Given the description of an element on the screen output the (x, y) to click on. 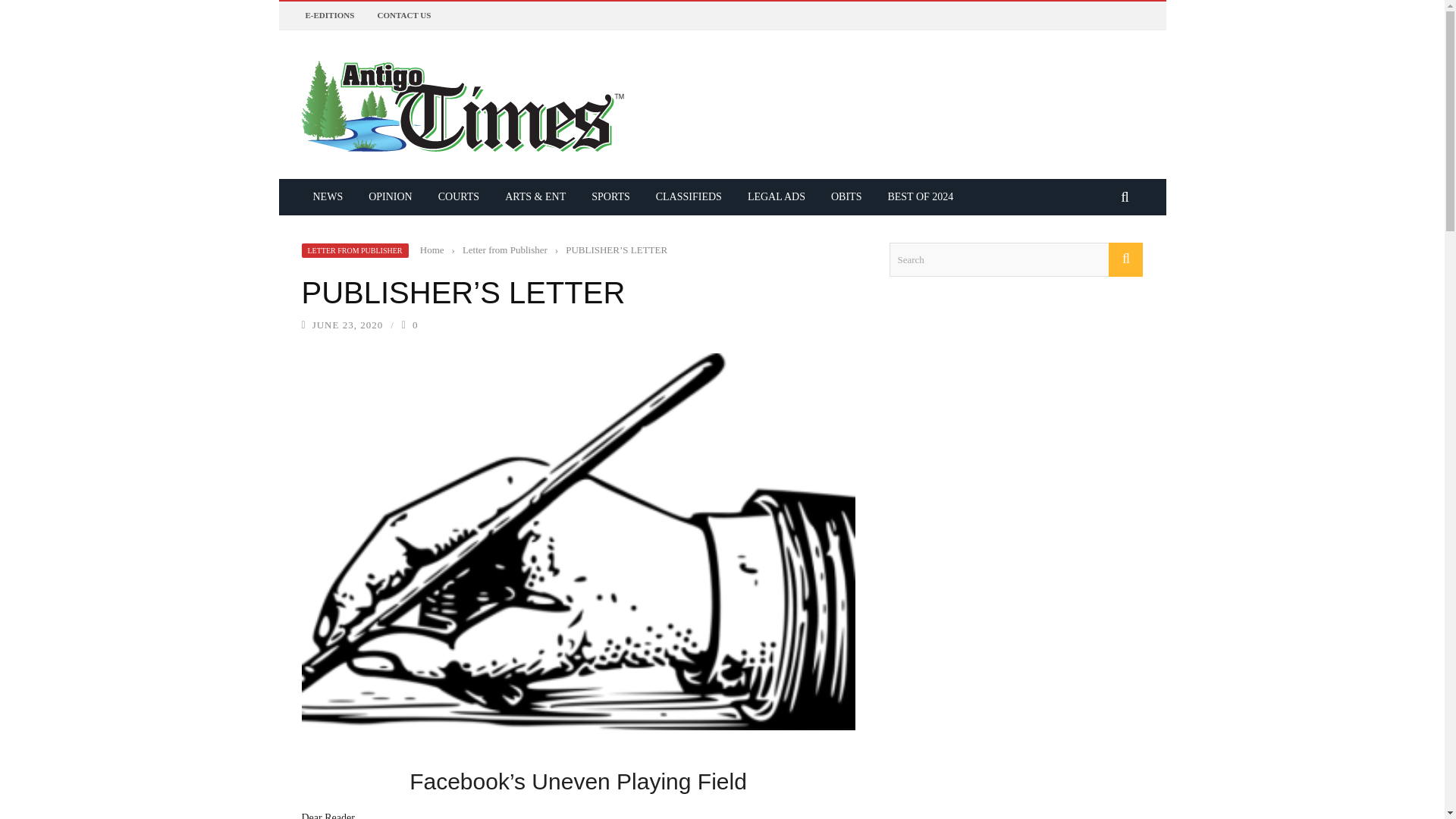
OPINION (389, 196)
Home (432, 249)
NEWS (328, 196)
Search (1015, 259)
CLASSIFIEDS (689, 196)
CONTACT US (403, 14)
LEGAL ADS (776, 196)
BEST OF 2024 (919, 196)
E-EDITIONS (328, 14)
SPORTS (610, 196)
